Given the description of an element on the screen output the (x, y) to click on. 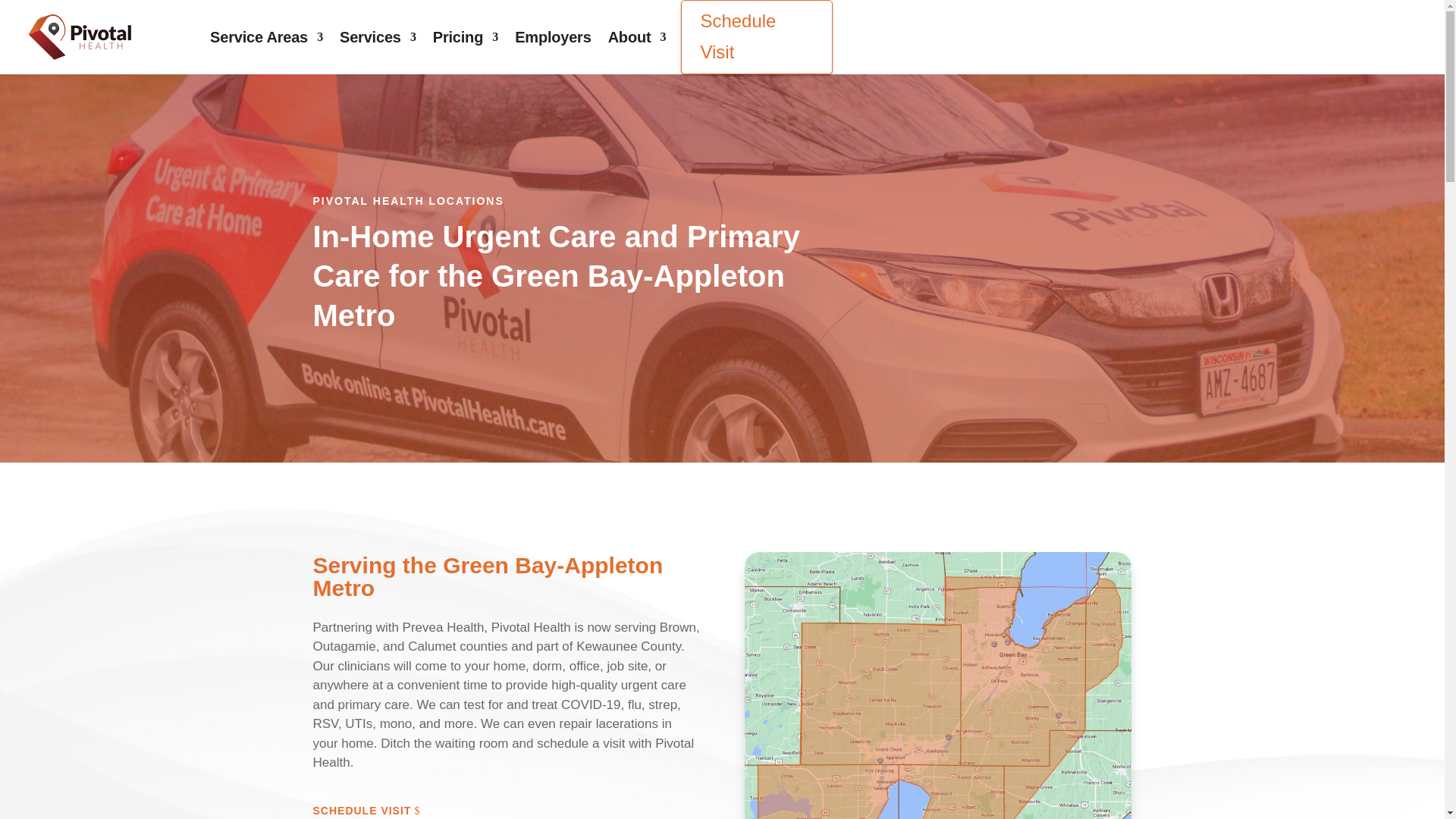
About (637, 36)
Services (377, 36)
Pricing (464, 36)
Employers (553, 36)
Service Areas (266, 36)
NEW Map (937, 685)
